Given the description of an element on the screen output the (x, y) to click on. 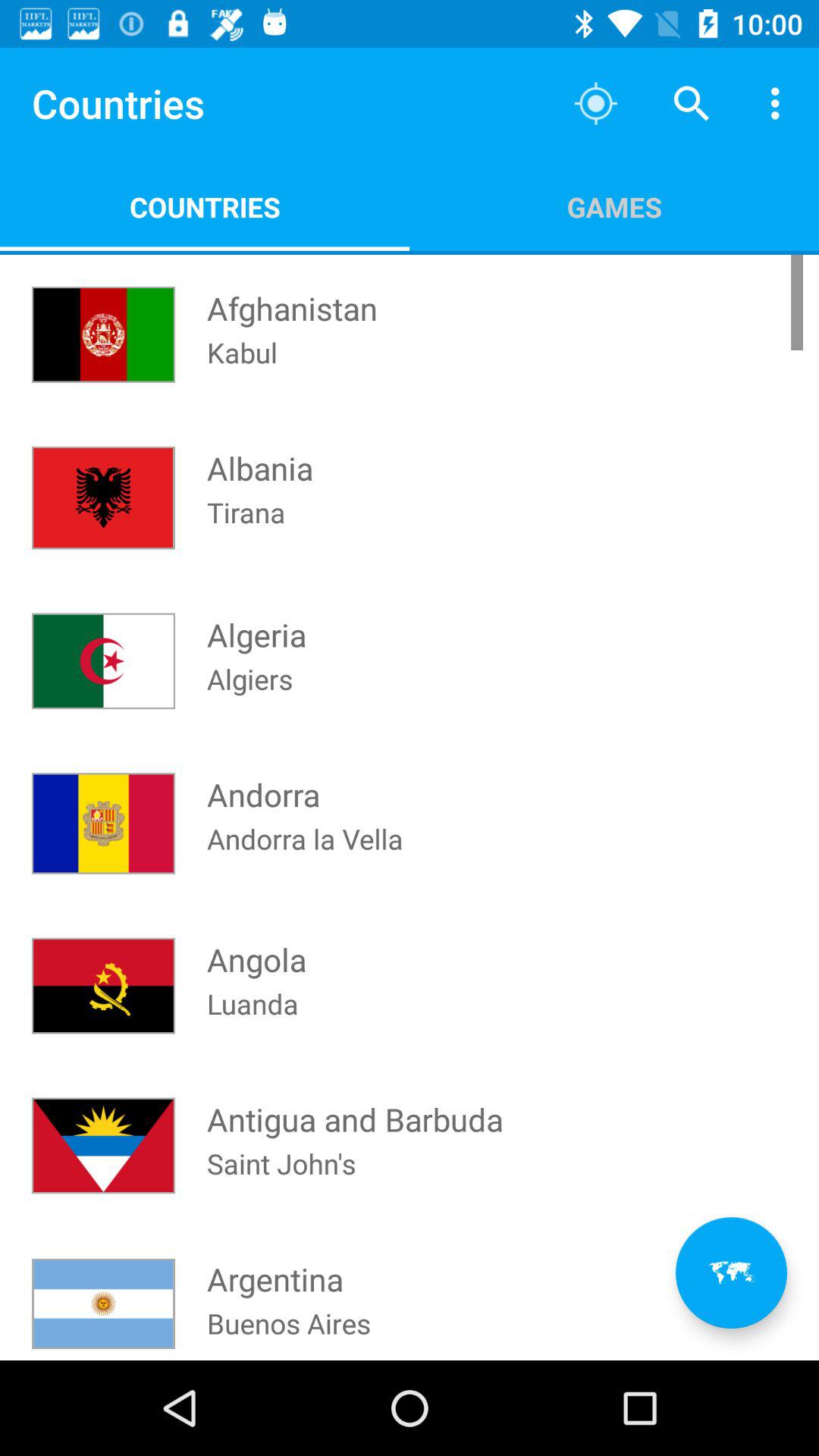
open item above andorra la vella icon (614, 206)
